Given the description of an element on the screen output the (x, y) to click on. 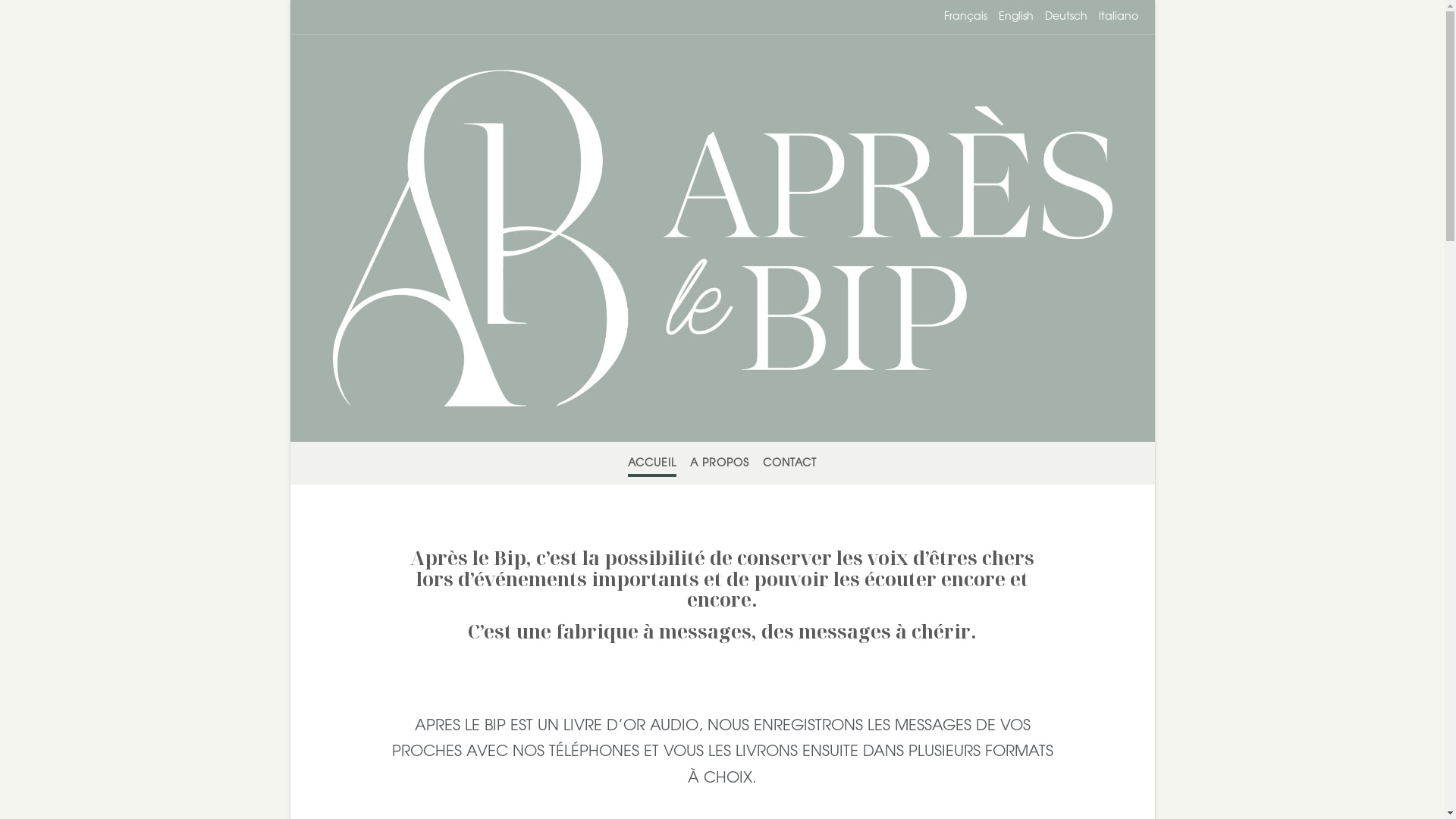
Italiano Element type: text (1117, 17)
CONTACT Element type: text (789, 463)
Deutsch Element type: text (1065, 17)
ACCUEIL Element type: text (651, 463)
A PROPOS Element type: text (719, 463)
English Element type: text (1014, 17)
